Given the description of an element on the screen output the (x, y) to click on. 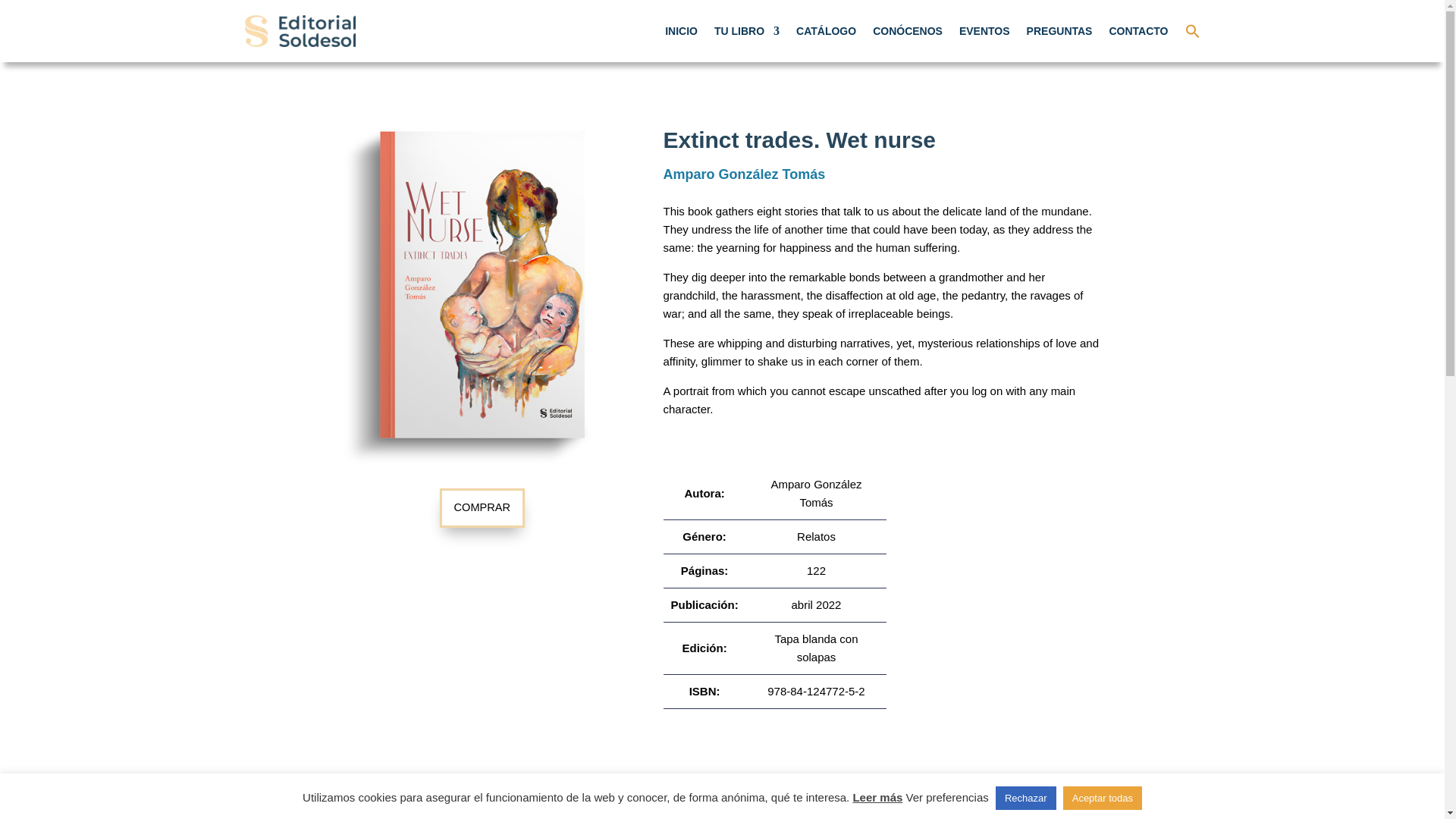
PREGUNTAS (1059, 30)
CONTACTO (1137, 30)
TU LIBRO (746, 30)
COMPRAR (480, 507)
EVENTOS (984, 30)
